Given the description of an element on the screen output the (x, y) to click on. 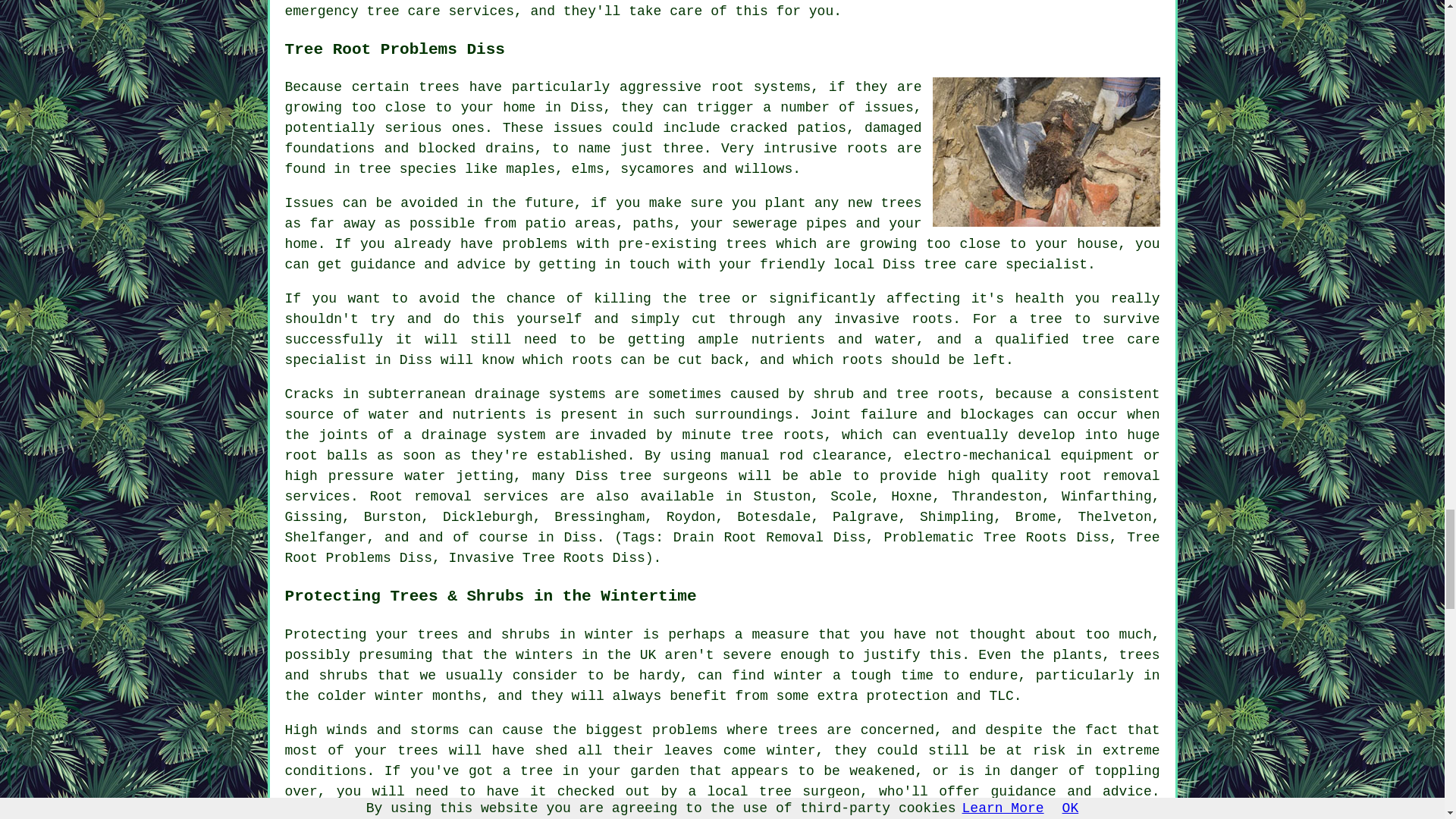
Invasive Tree Roots Diss Norfolk (1046, 151)
